Given the description of an element on the screen output the (x, y) to click on. 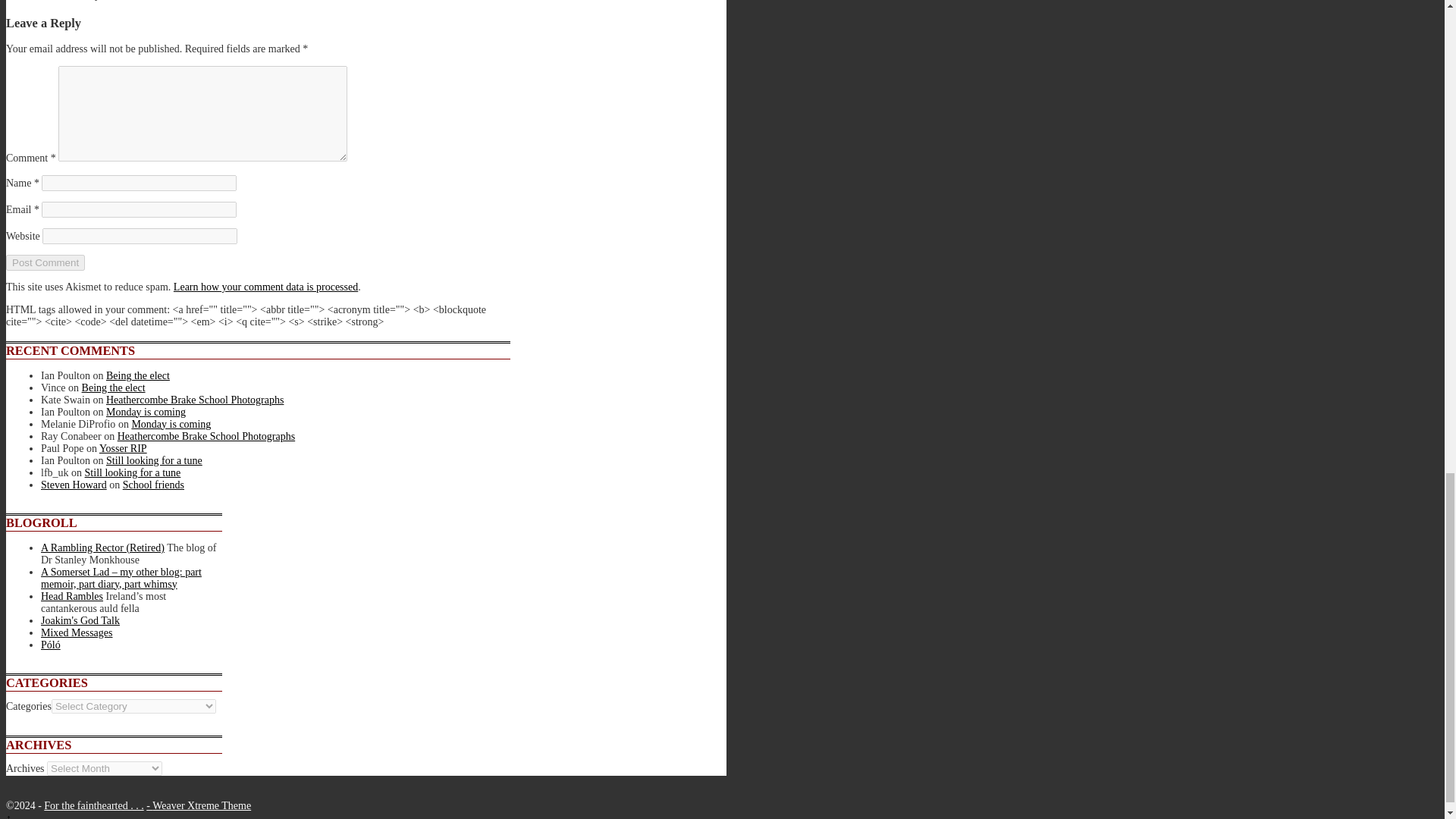
Being the elect (113, 387)
Proudly powered by WordPress (149, 805)
Weaver Xtreme Theme (201, 805)
For the fainthearted . . . (92, 805)
Still looking for a tune (154, 460)
Learn how your comment data is processed (265, 286)
Heathercombe Brake School Photographs (194, 399)
The blog of Dr Stanley Monkhouse (102, 547)
Being the elect (138, 375)
Still looking for a tune (132, 472)
Steven Howard (73, 484)
Head Rambles (71, 595)
Joakim's God Talk (79, 620)
Monday is coming (146, 411)
Post Comment (44, 262)
